Given the description of an element on the screen output the (x, y) to click on. 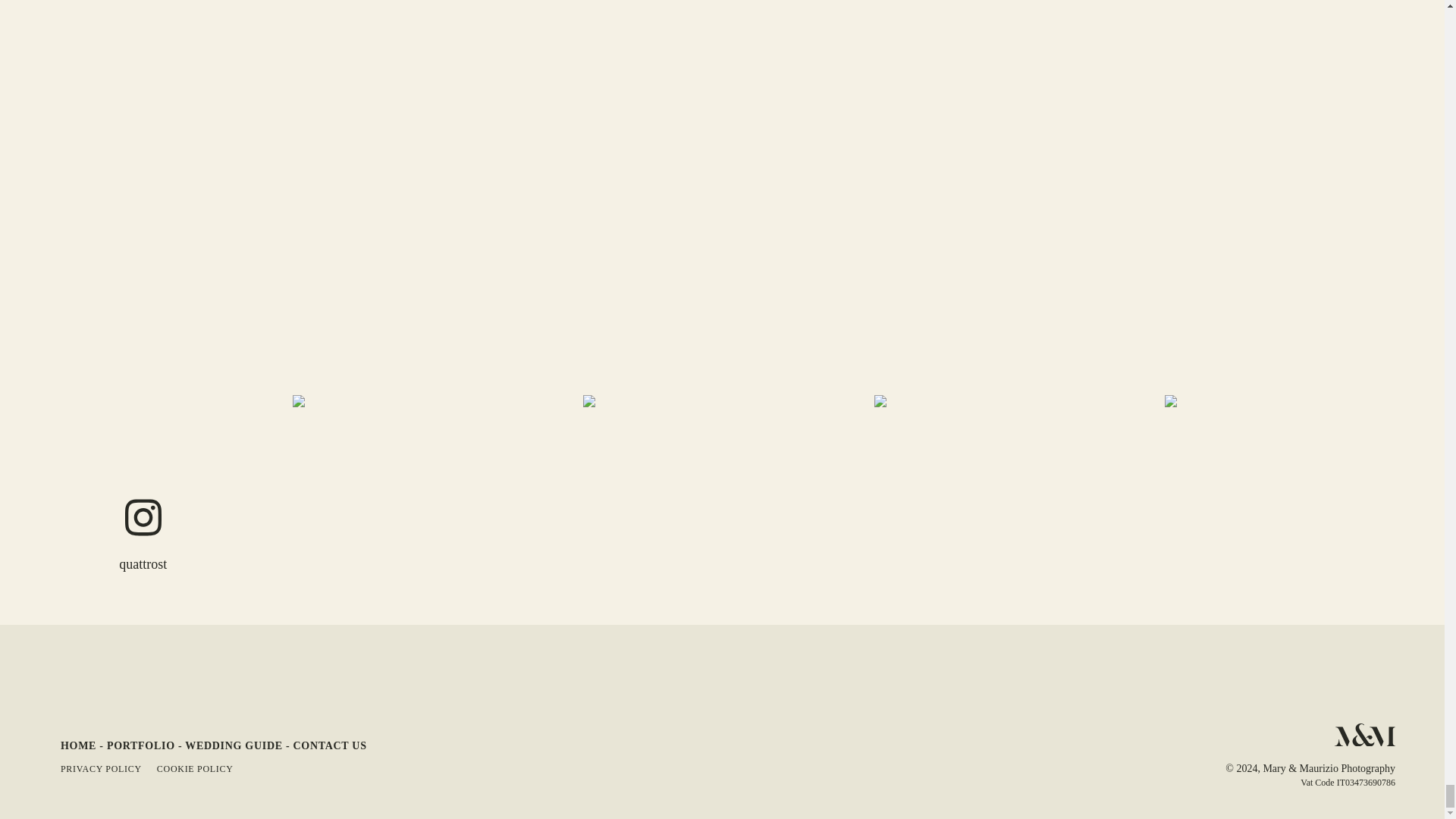
COOKIE POLICY (194, 768)
PRIVACY POLICY (101, 768)
WEDDING GUIDE (233, 745)
PORTFOLIO (140, 745)
HOME (78, 745)
CONTACT US (330, 745)
